Given the description of an element on the screen output the (x, y) to click on. 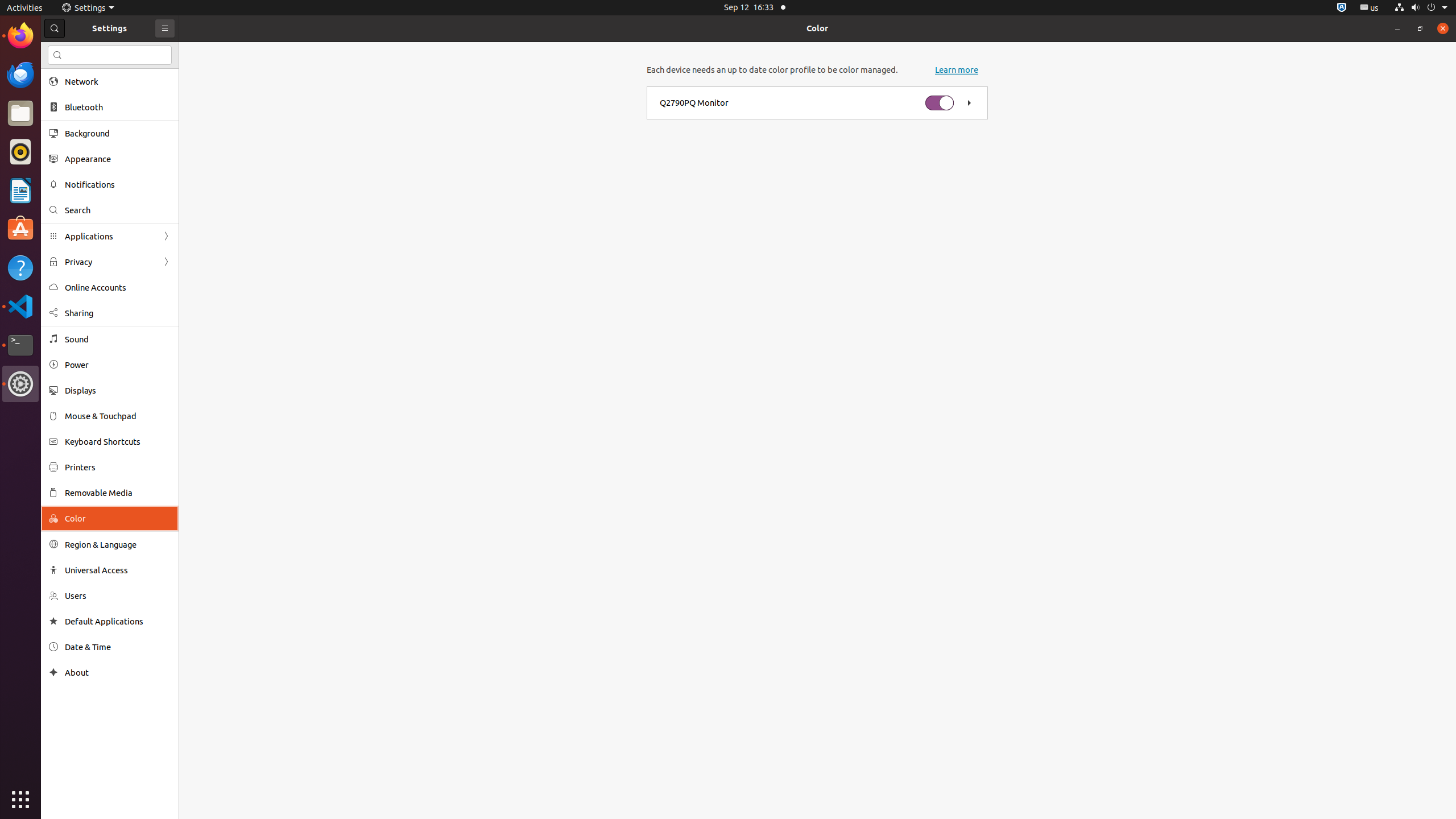
Each device needs an up to date color profile to be color managed. Element type: label (772, 69)
Keyboard Shortcuts Element type: label (117, 441)
Restore Element type: push-button (1419, 27)
